Given the description of an element on the screen output the (x, y) to click on. 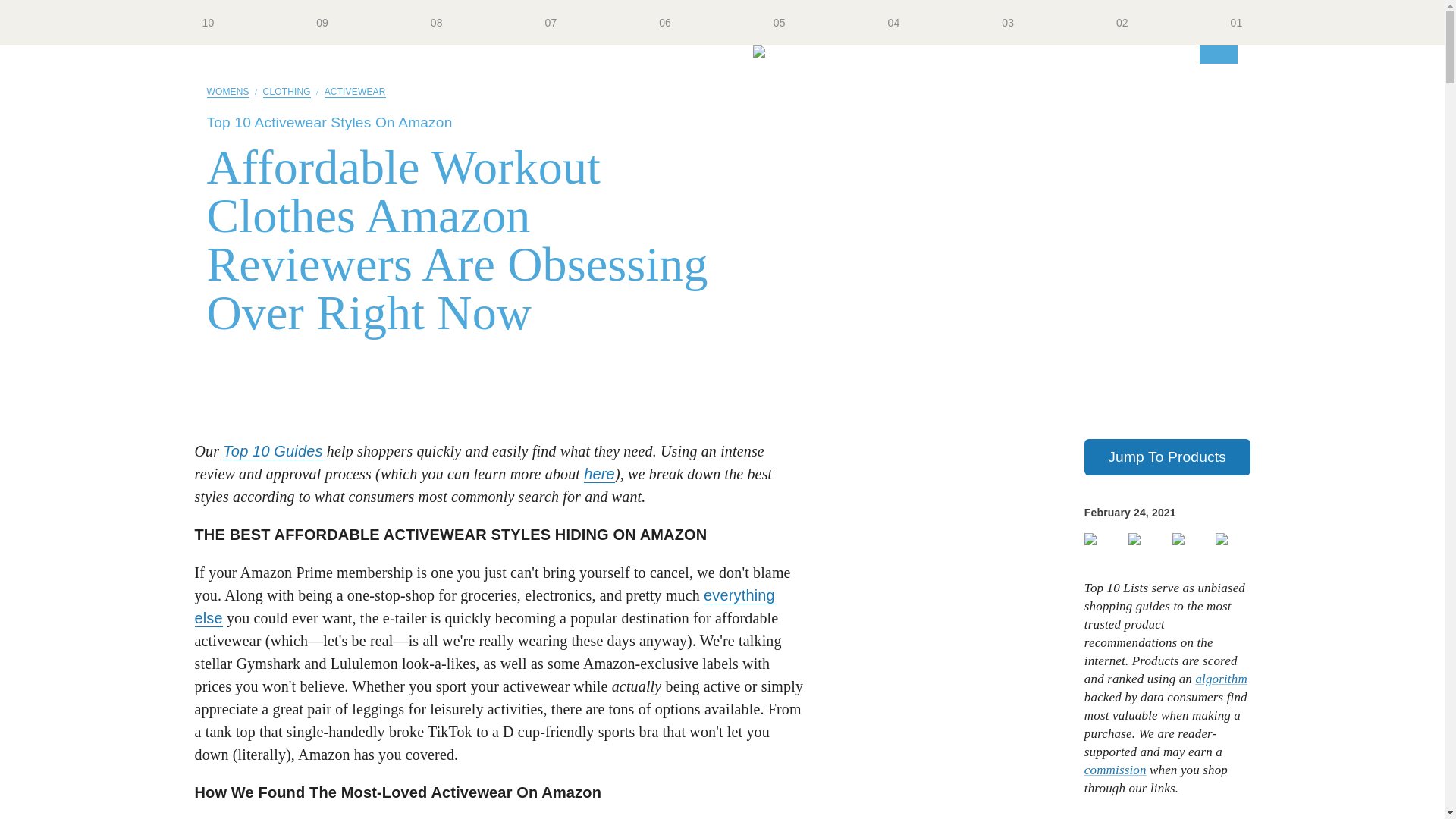
06 (665, 23)
WOMENS (227, 91)
here (598, 474)
02 (1122, 23)
commission (1115, 769)
ACTIVEWEAR (354, 91)
algorithm (1220, 678)
10 (208, 23)
Top 10 Guides (271, 451)
Jump To Products (1167, 456)
03 (1007, 23)
01 (1236, 23)
07 (550, 23)
CLOTHING (287, 91)
everything else (483, 607)
